Given the description of an element on the screen output the (x, y) to click on. 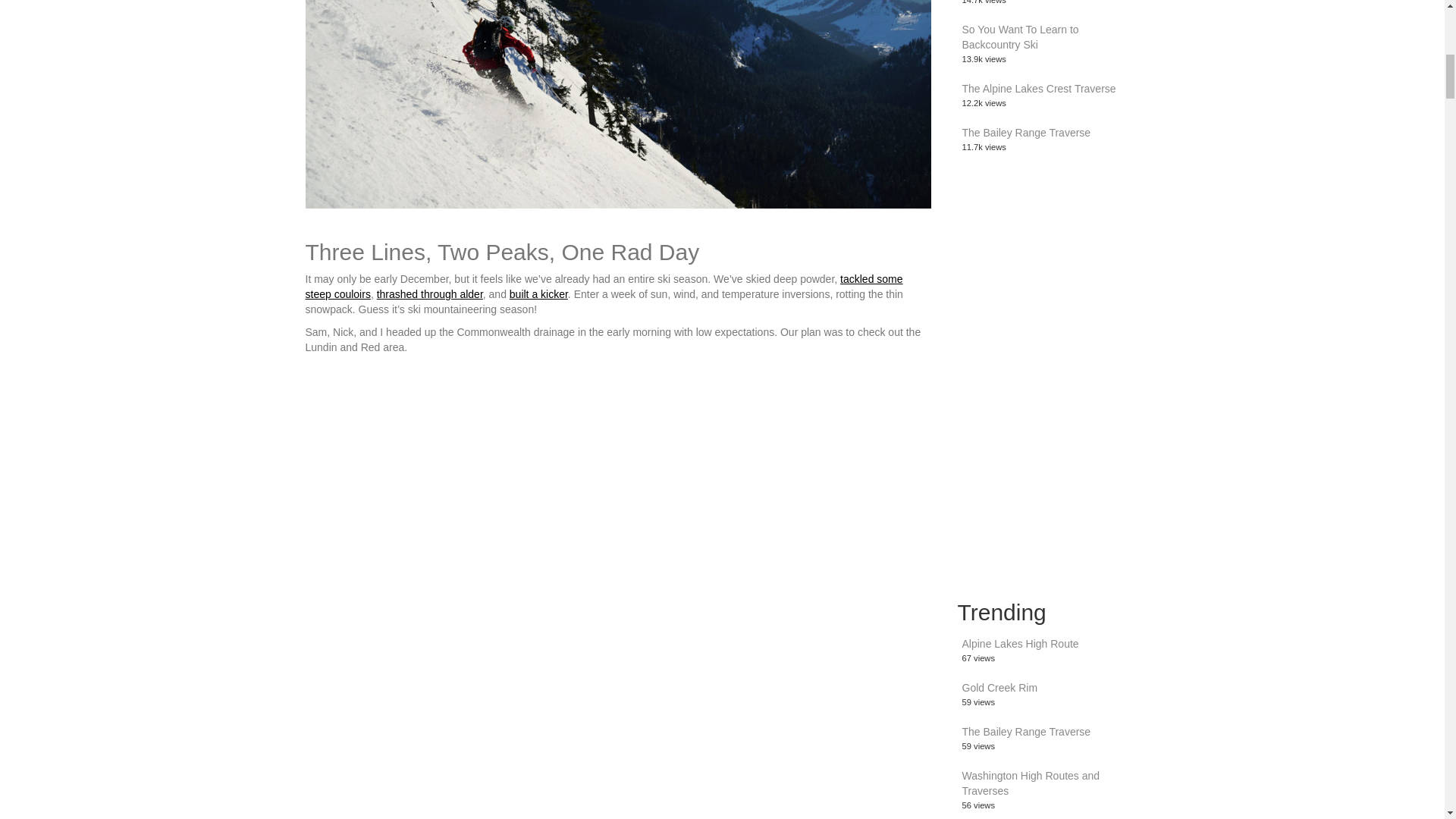
tackled some steep couloirs (603, 286)
Gold Creek Rim (998, 687)
built a kicker (538, 294)
The Bailey Range Traverse (1025, 132)
So You Want To Learn to Backcountry Ski (1019, 36)
The Bailey Range Traverse (1025, 731)
thrashed through alder (430, 294)
Washington High Routes and Traverses (1029, 782)
Alpine Lakes High Route (1019, 644)
The Alpine Lakes Crest Traverse (1037, 88)
